Given the description of an element on the screen output the (x, y) to click on. 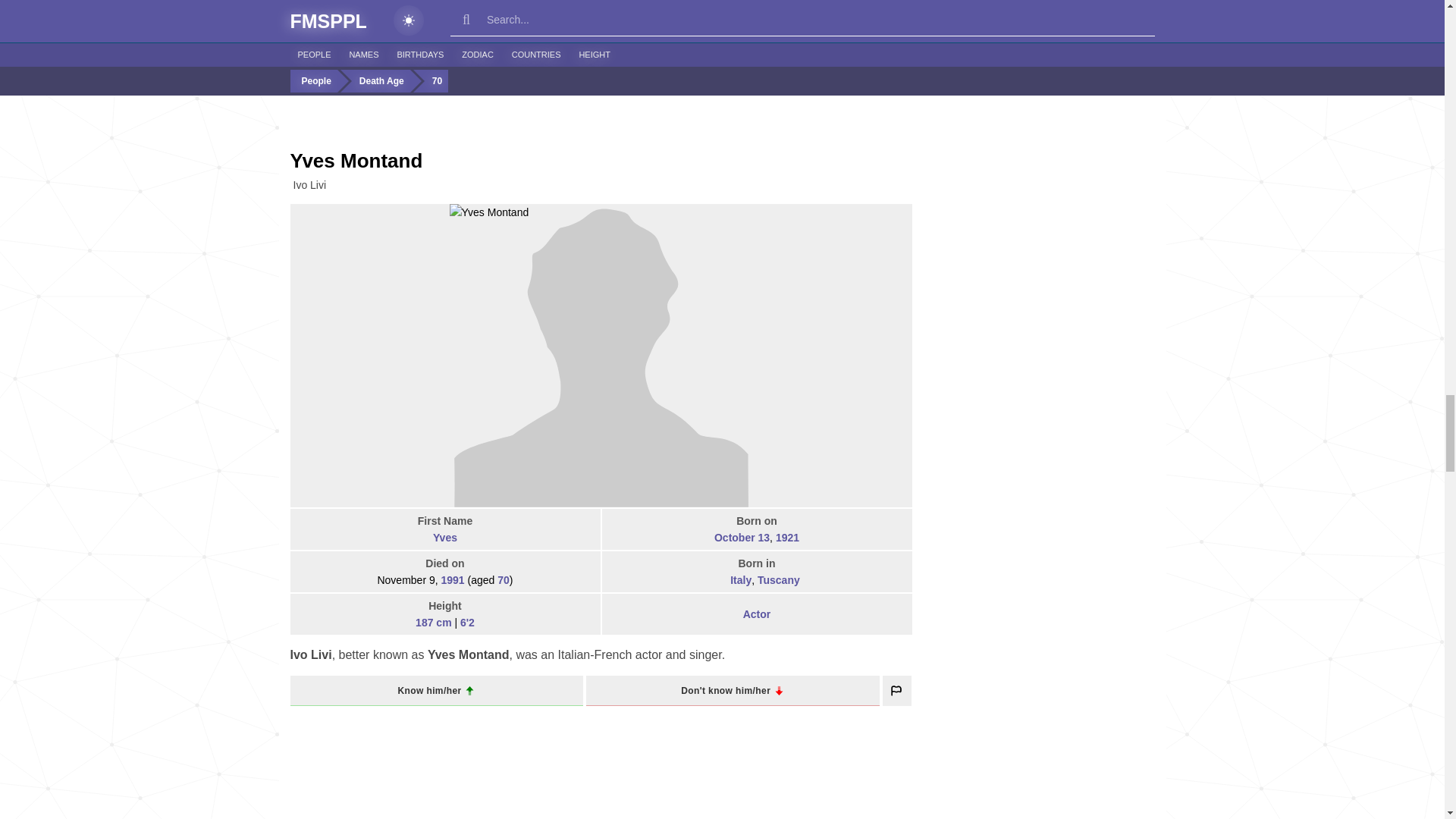
Italy (719, 581)
